Given the description of an element on the screen output the (x, y) to click on. 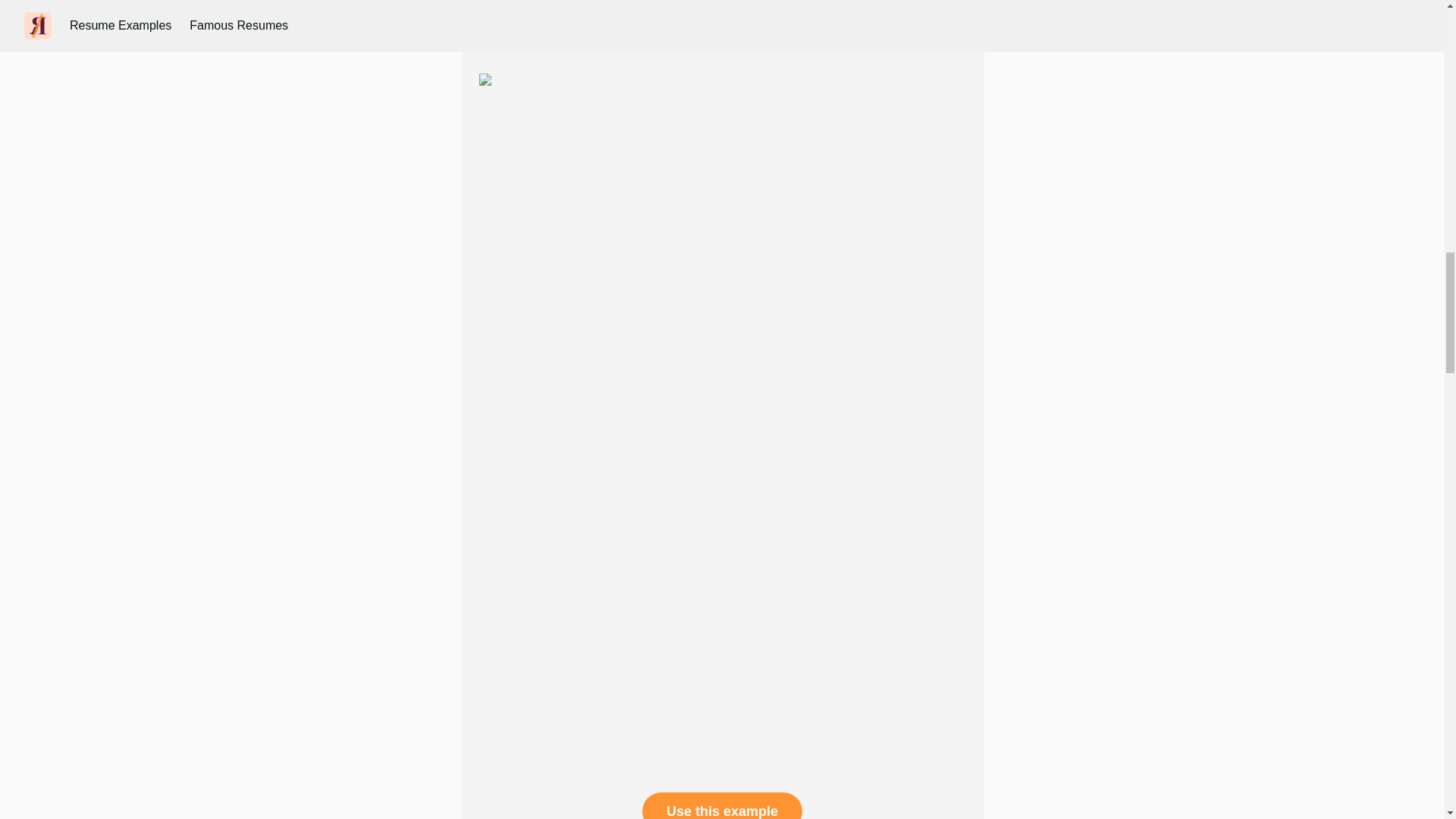
Use this example (722, 805)
